Given the description of an element on the screen output the (x, y) to click on. 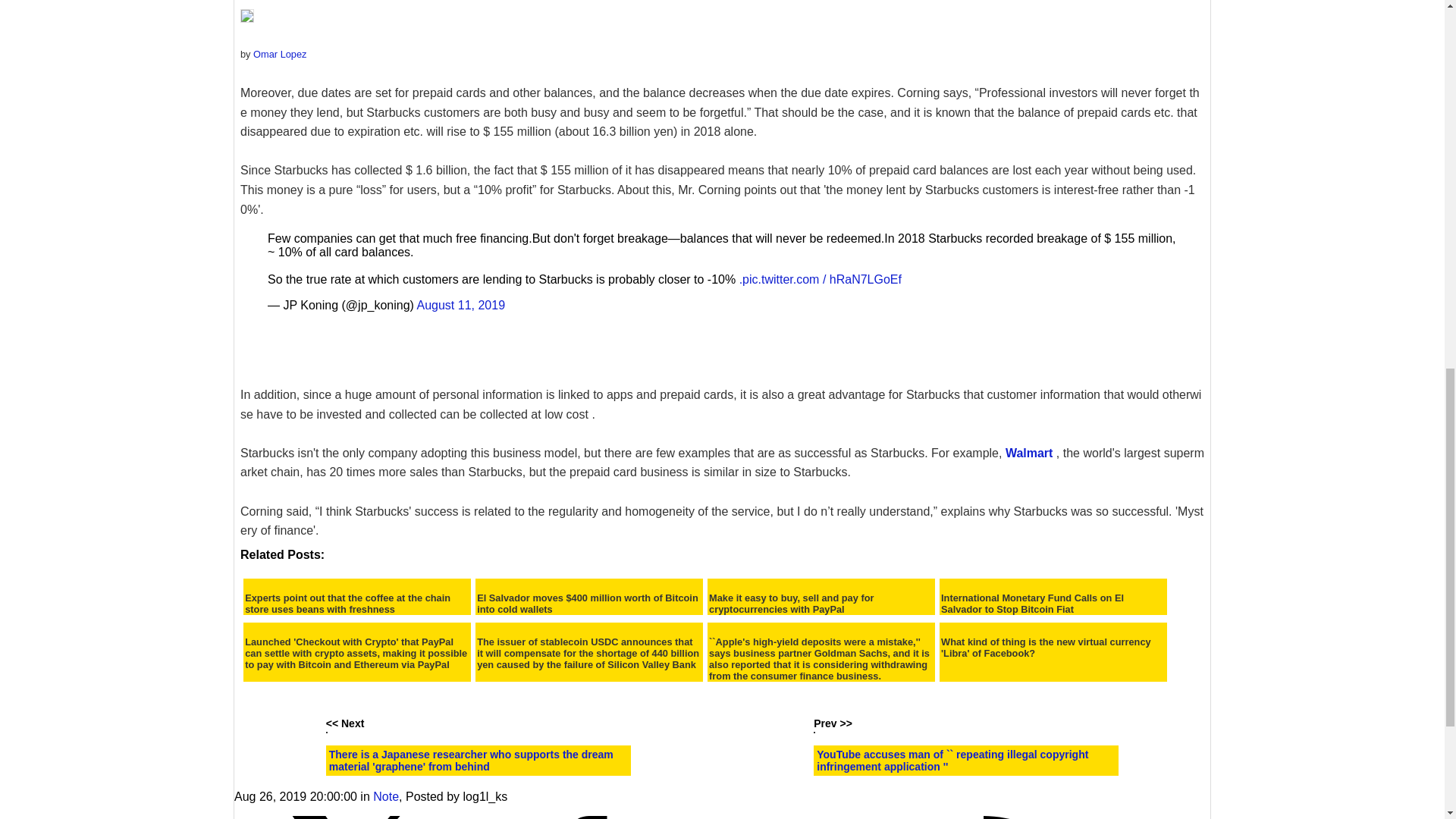
August 11, 2019 (460, 305)
Omar Lopez (279, 53)
Walmart (1029, 452)
Note (385, 796)
